Given the description of an element on the screen output the (x, y) to click on. 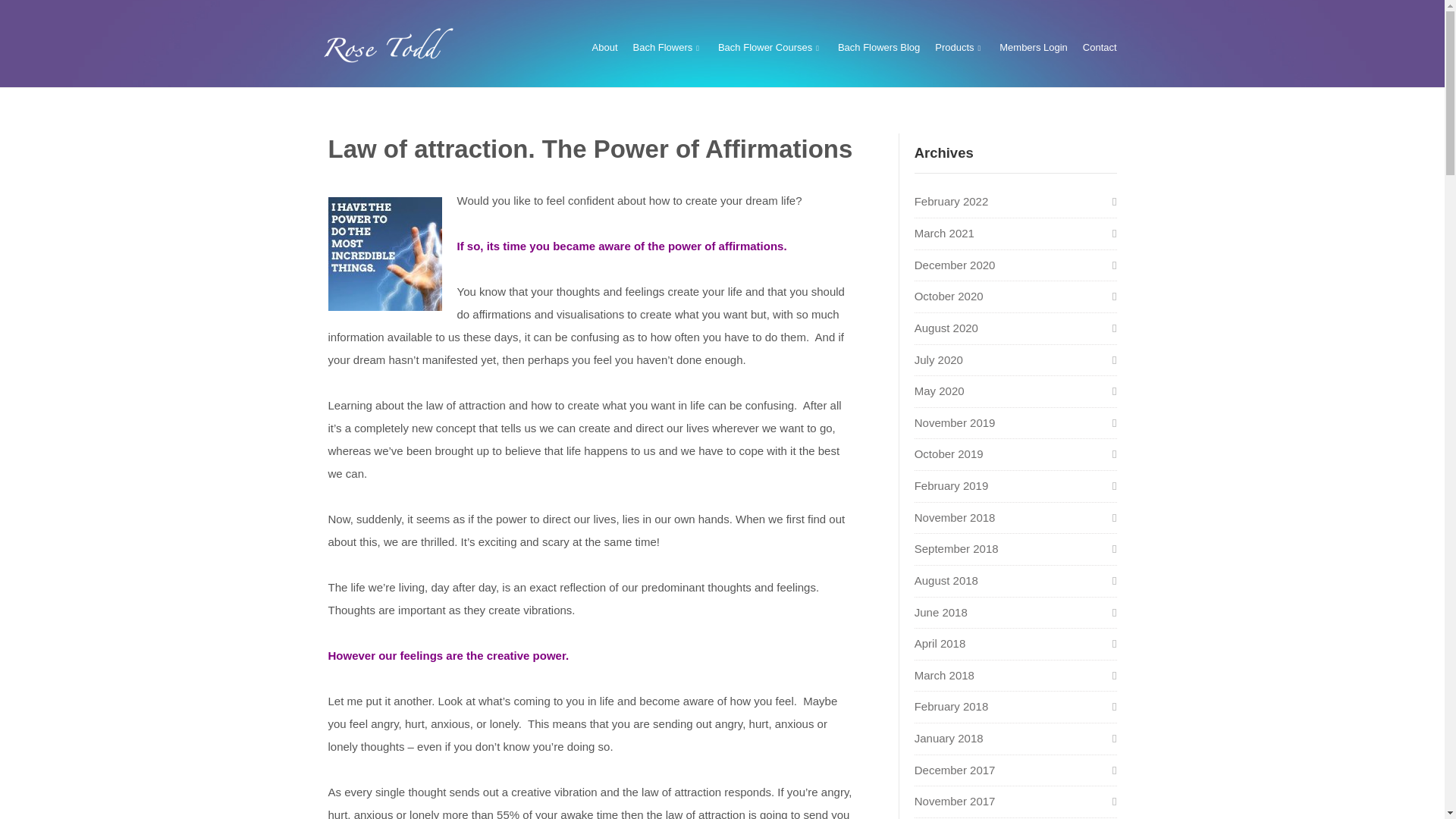
Contact (1099, 47)
Members Login (1032, 47)
Bach Flowers (668, 47)
Products (959, 47)
Bach Flower Courses (769, 47)
February 2022 (951, 201)
Bach Flowers Blog (879, 47)
About (604, 47)
